Given the description of an element on the screen output the (x, y) to click on. 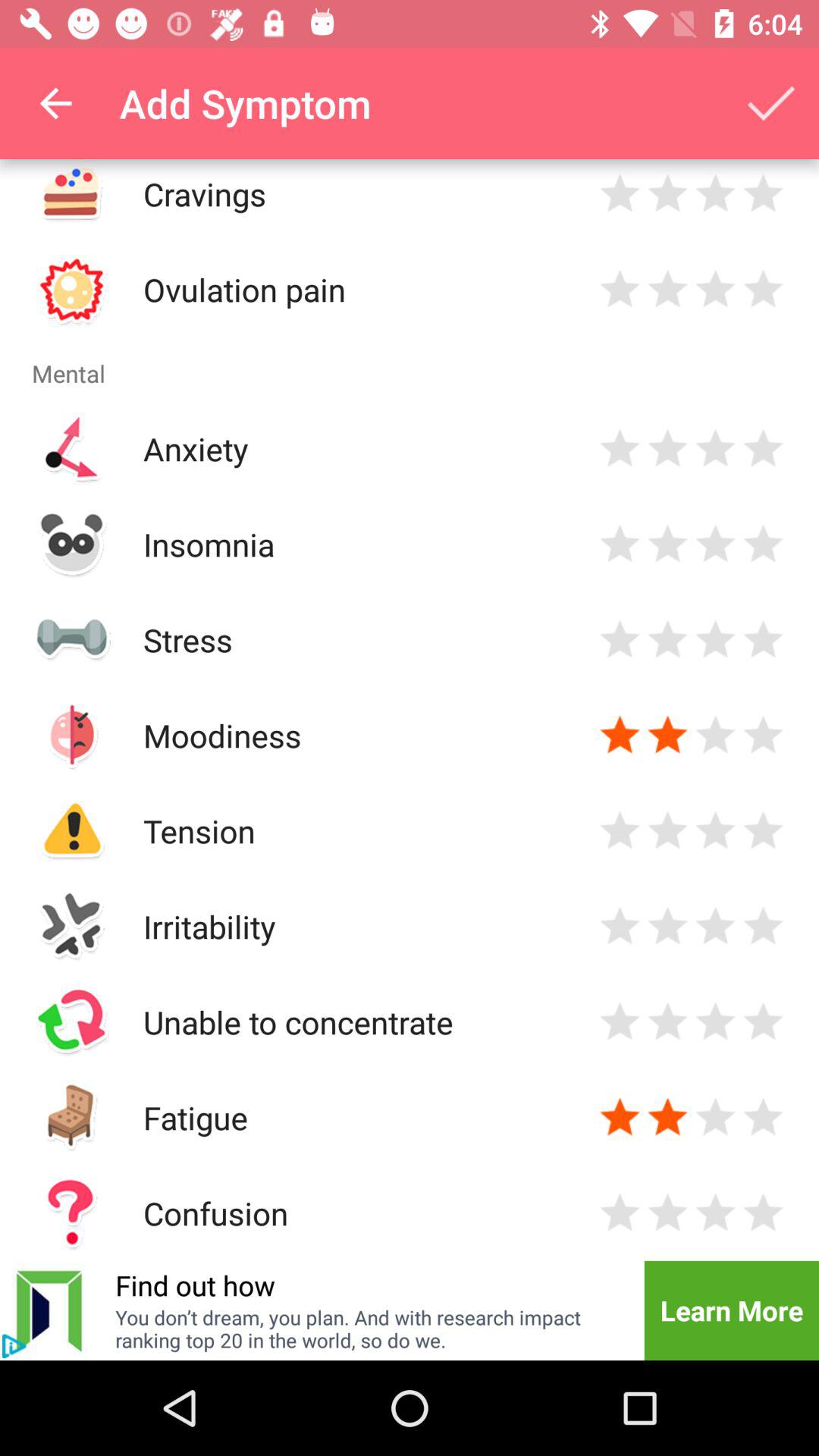
rate symptom 3 stars (715, 1021)
